Given the description of an element on the screen output the (x, y) to click on. 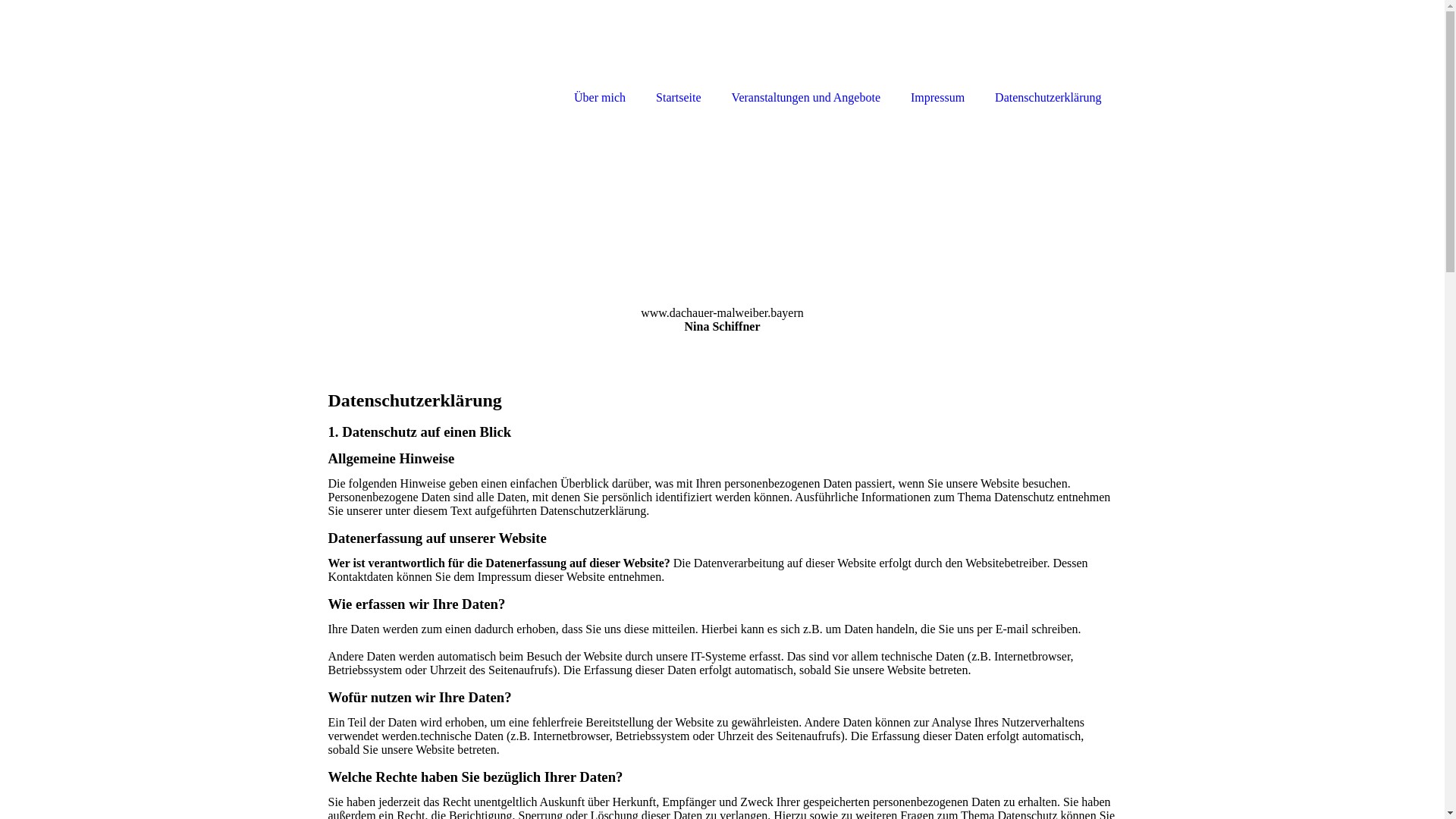
Veranstaltungen und Angebote Element type: text (805, 54)
Impressum Element type: text (937, 54)
Startseite Element type: text (678, 54)
